Given the description of an element on the screen output the (x, y) to click on. 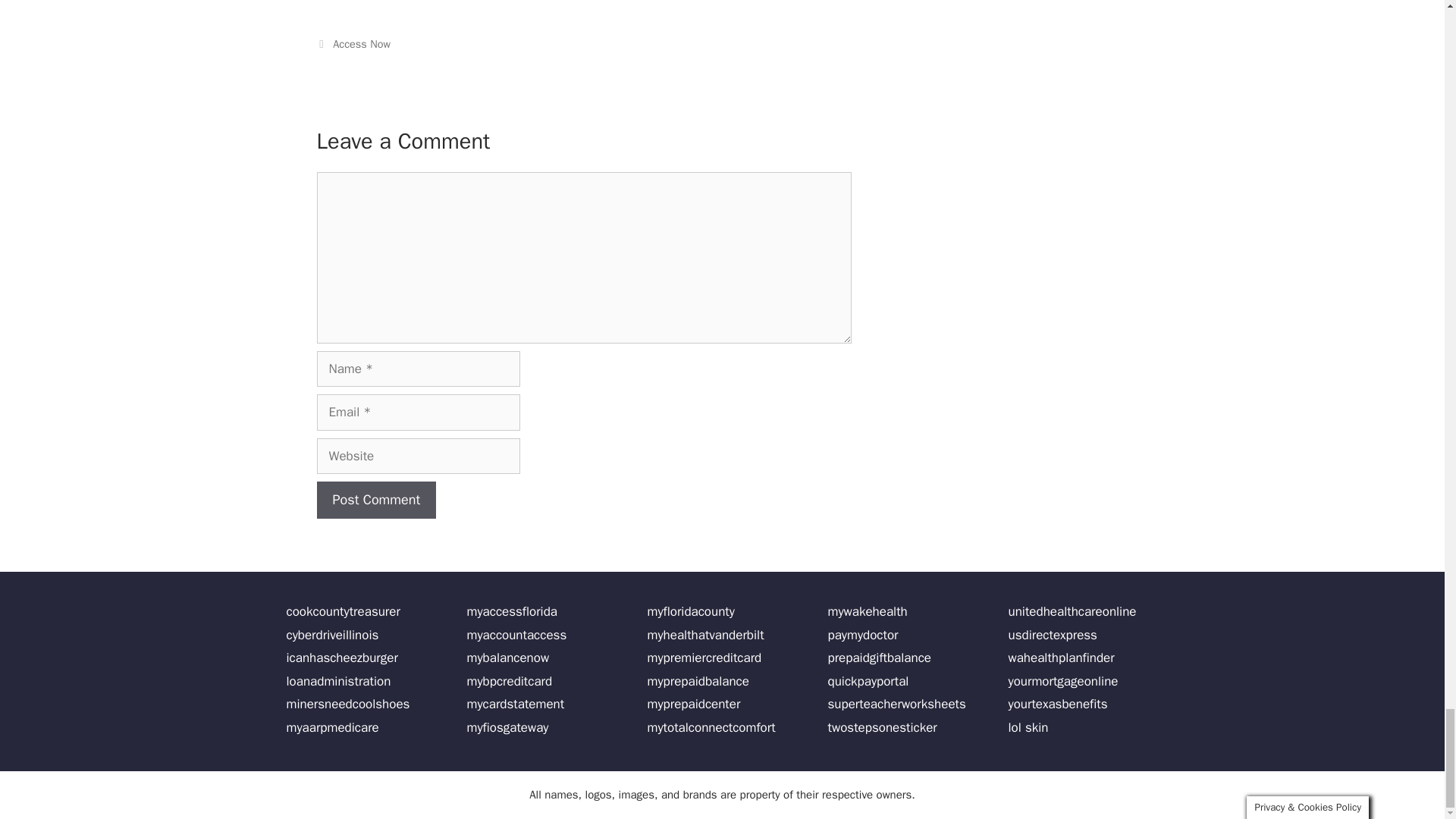
Post Comment (376, 499)
Post Comment (376, 499)
Access Now (361, 43)
